Given the description of an element on the screen output the (x, y) to click on. 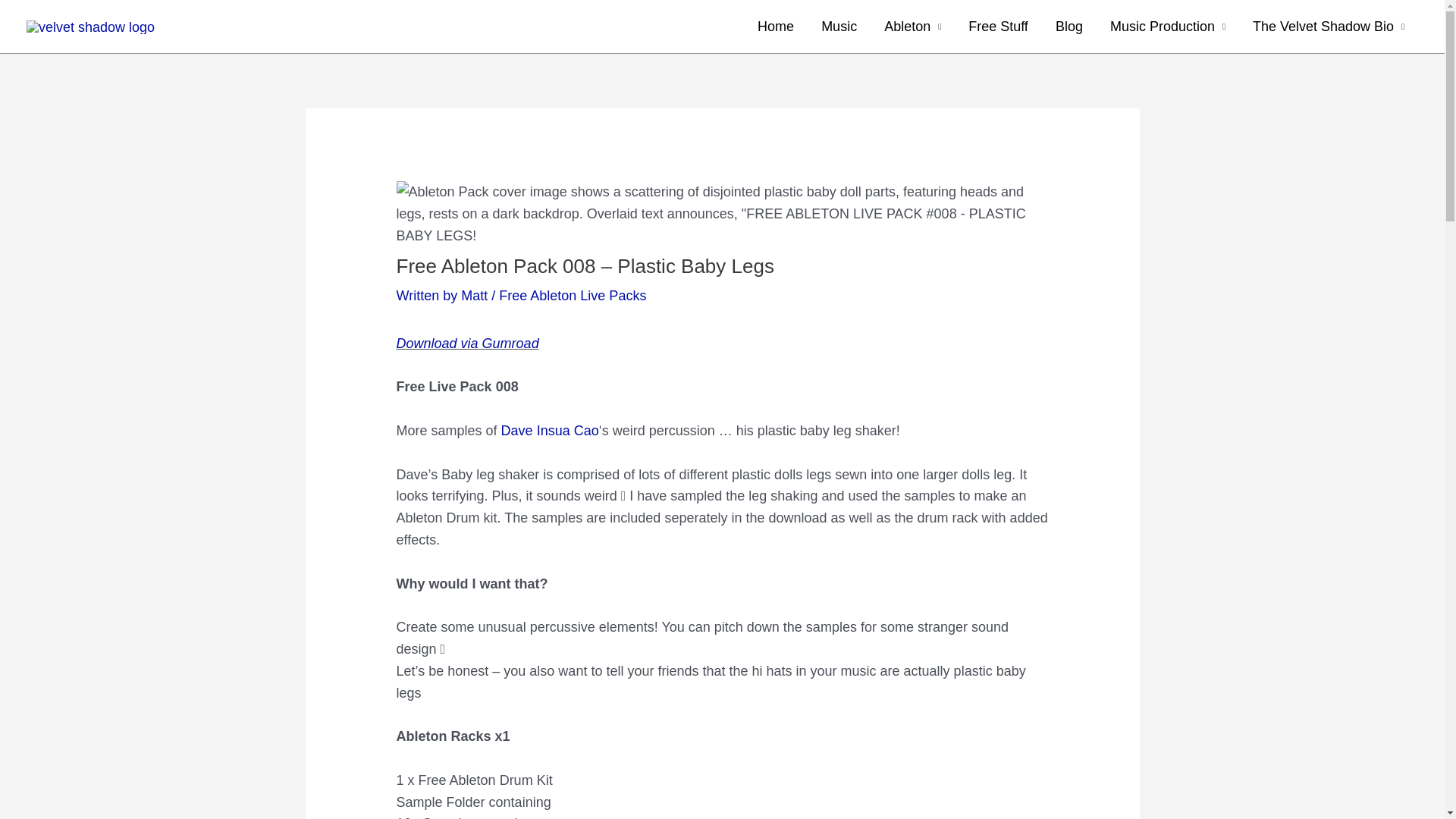
Music (839, 26)
Music Production (1167, 26)
Free Stuff (998, 26)
View all posts by Matt (476, 295)
Blog (1069, 26)
Ableton (912, 26)
Home (776, 26)
The Velvet Shadow Bio (1328, 26)
Dave Insua Cao (549, 430)
